Given the description of an element on the screen output the (x, y) to click on. 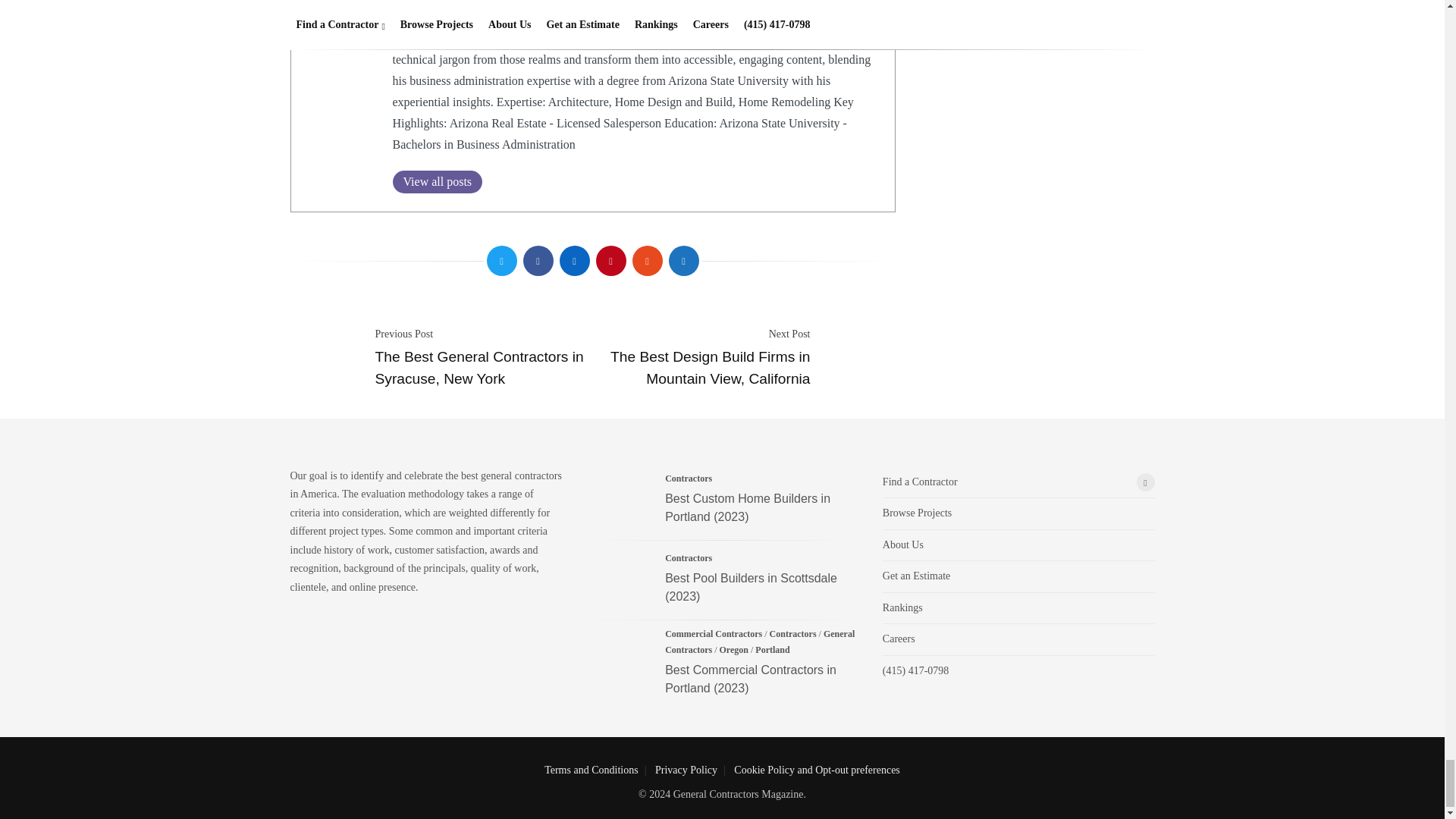
Share on Reddit (646, 260)
Tweet This! (501, 260)
Share on Email (683, 260)
Pin this! (610, 260)
Share on Facebook (537, 260)
View all posts (438, 181)
View all posts (438, 181)
Share on LinkedIn (574, 260)
The Best General Contractors in Syracuse, New York (478, 367)
